Given the description of an element on the screen output the (x, y) to click on. 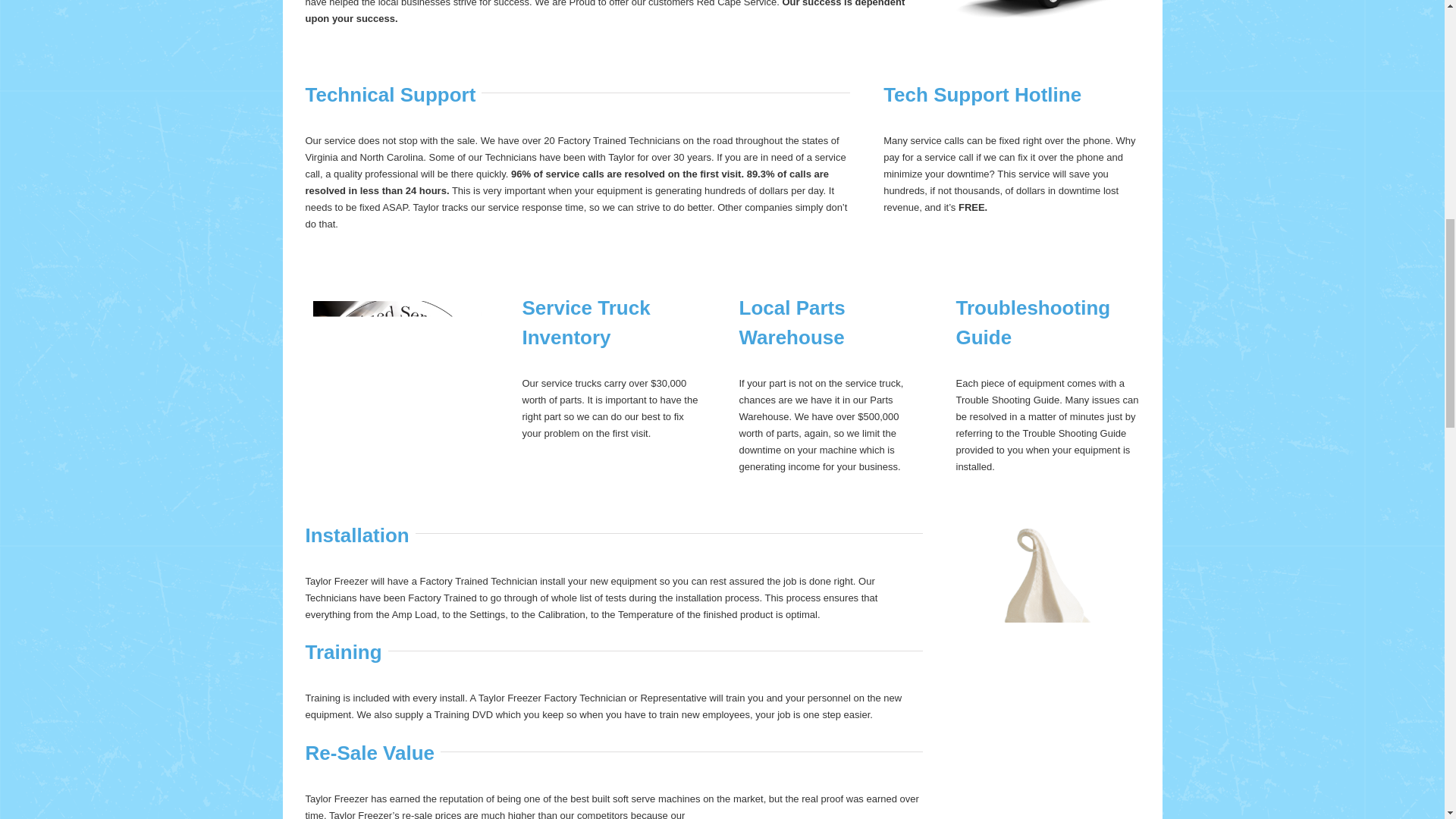
parts-stamp (396, 381)
red-cape-van (1046, 9)
